Given the description of an element on the screen output the (x, y) to click on. 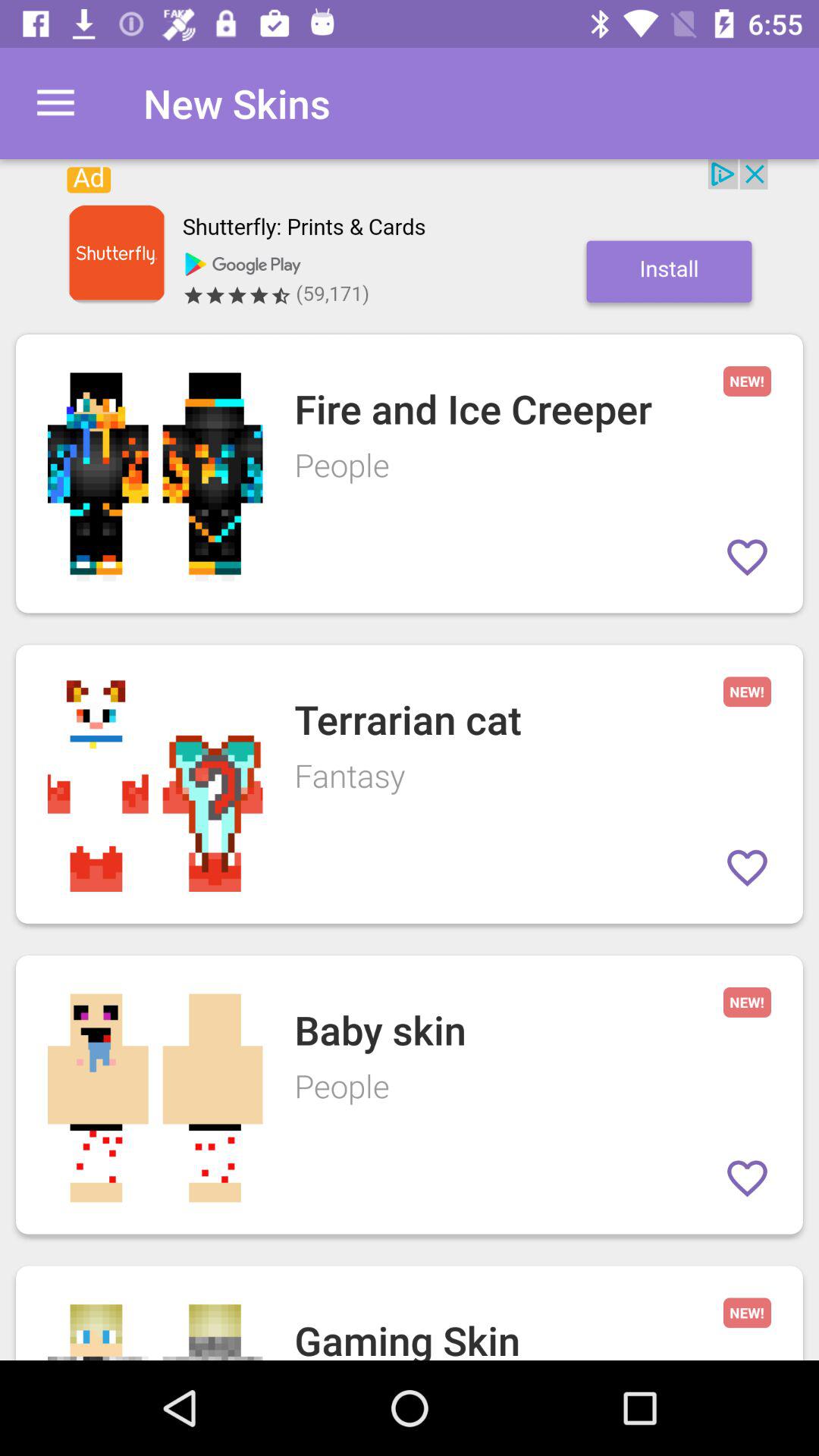
like (747, 557)
